Given the description of an element on the screen output the (x, y) to click on. 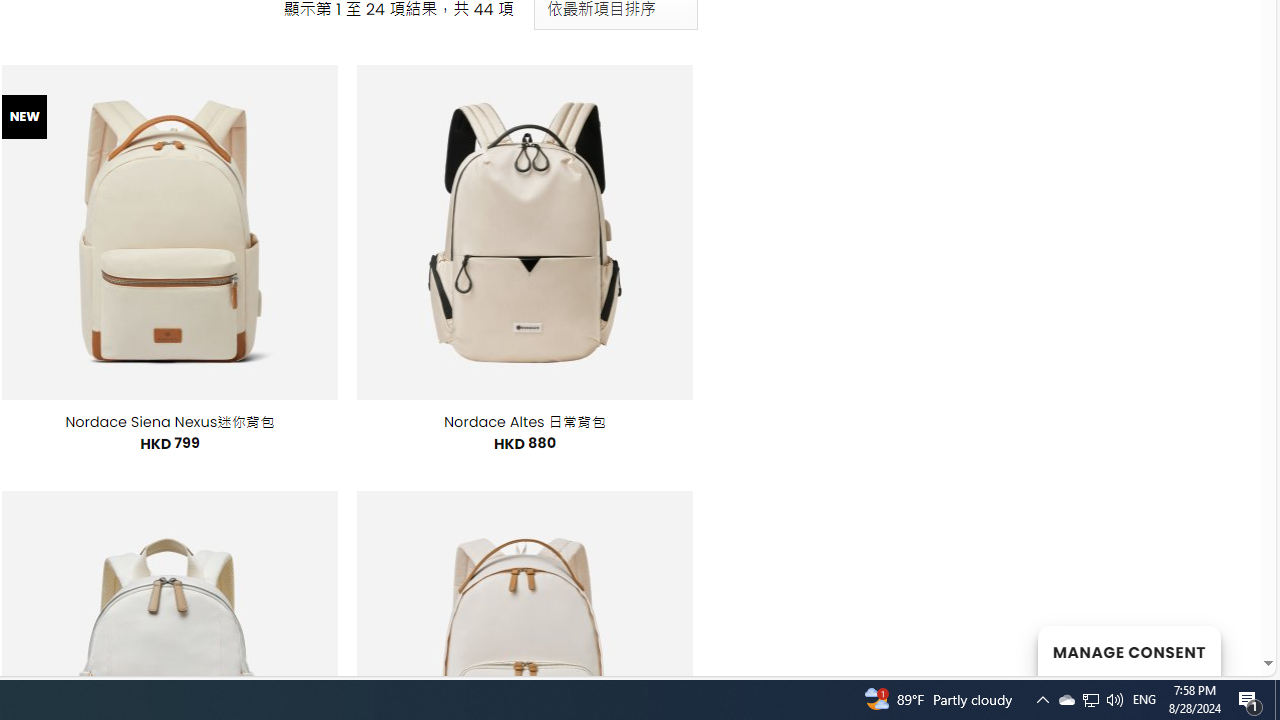
MANAGE CONSENT (1128, 650)
